Given the description of an element on the screen output the (x, y) to click on. 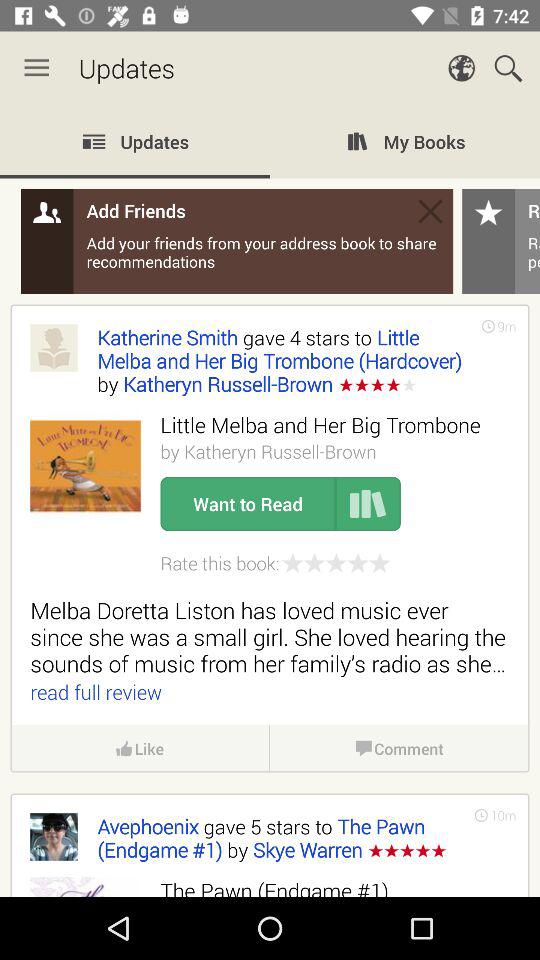
close window (430, 211)
